Given the description of an element on the screen output the (x, y) to click on. 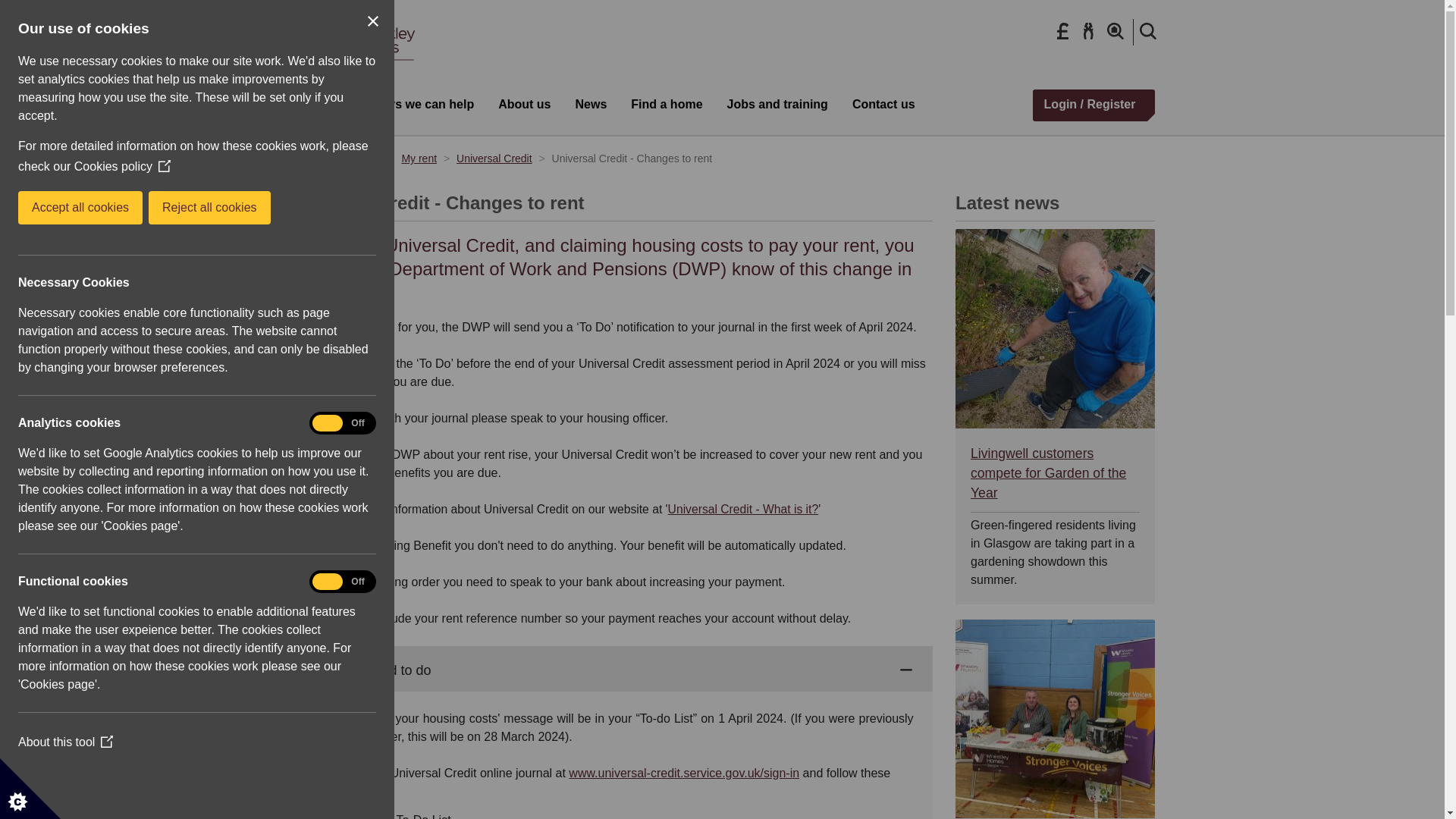
My rent (418, 158)
Reject all cookies (69, 207)
Universal Credit - What is it? (743, 508)
My home (359, 158)
Home (303, 158)
Home home (352, 69)
Universal Credit (494, 158)
